Given the description of an element on the screen output the (x, y) to click on. 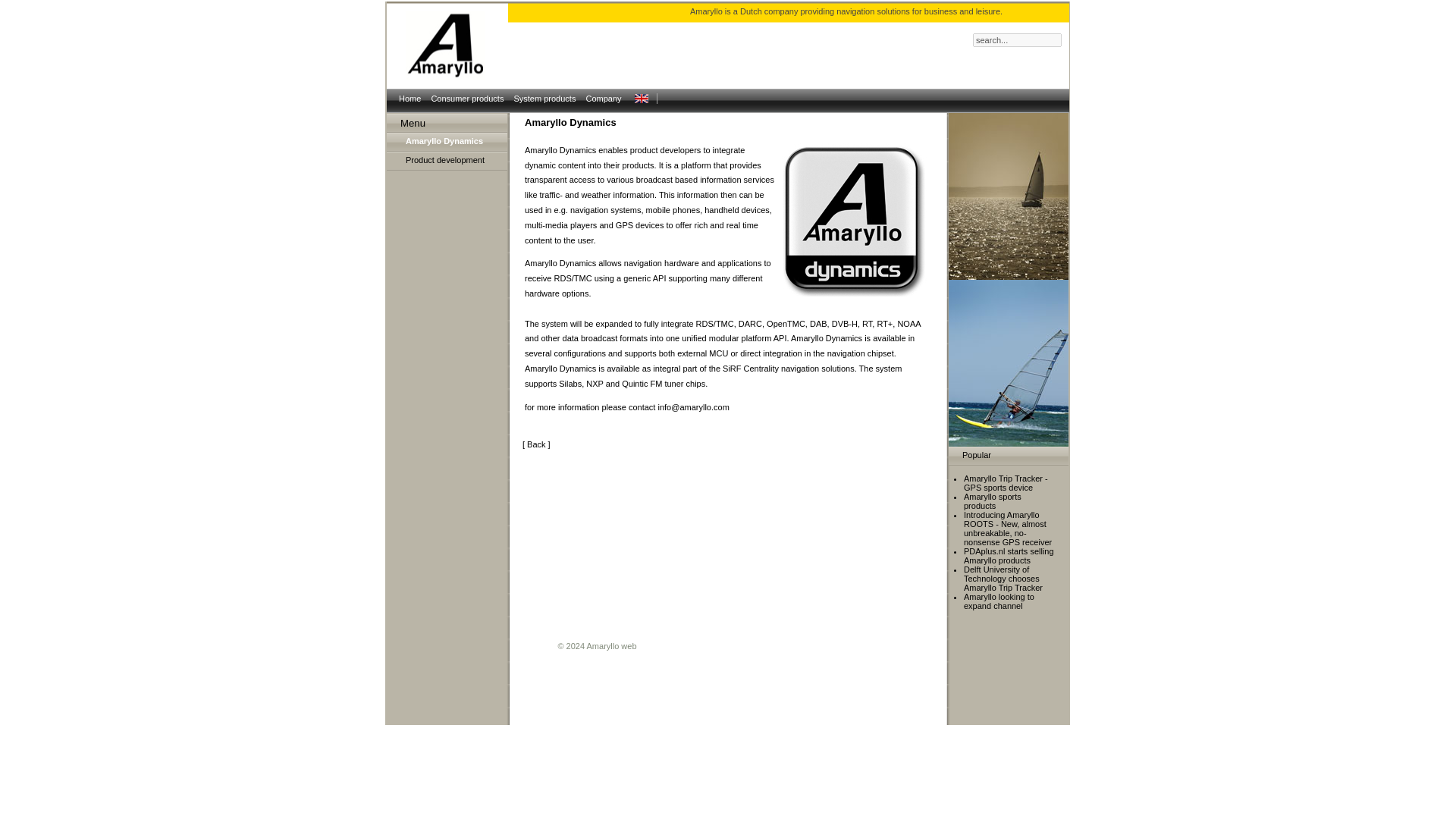
System products (544, 98)
PDAplus.nl starts selling Amaryllo products (1008, 556)
Product development (456, 160)
Company (602, 98)
Amaryllo looking to expand channel (998, 601)
Amaryllo sports products (992, 501)
Home (409, 98)
Consumer products (466, 98)
search... (1016, 39)
